Given the description of an element on the screen output the (x, y) to click on. 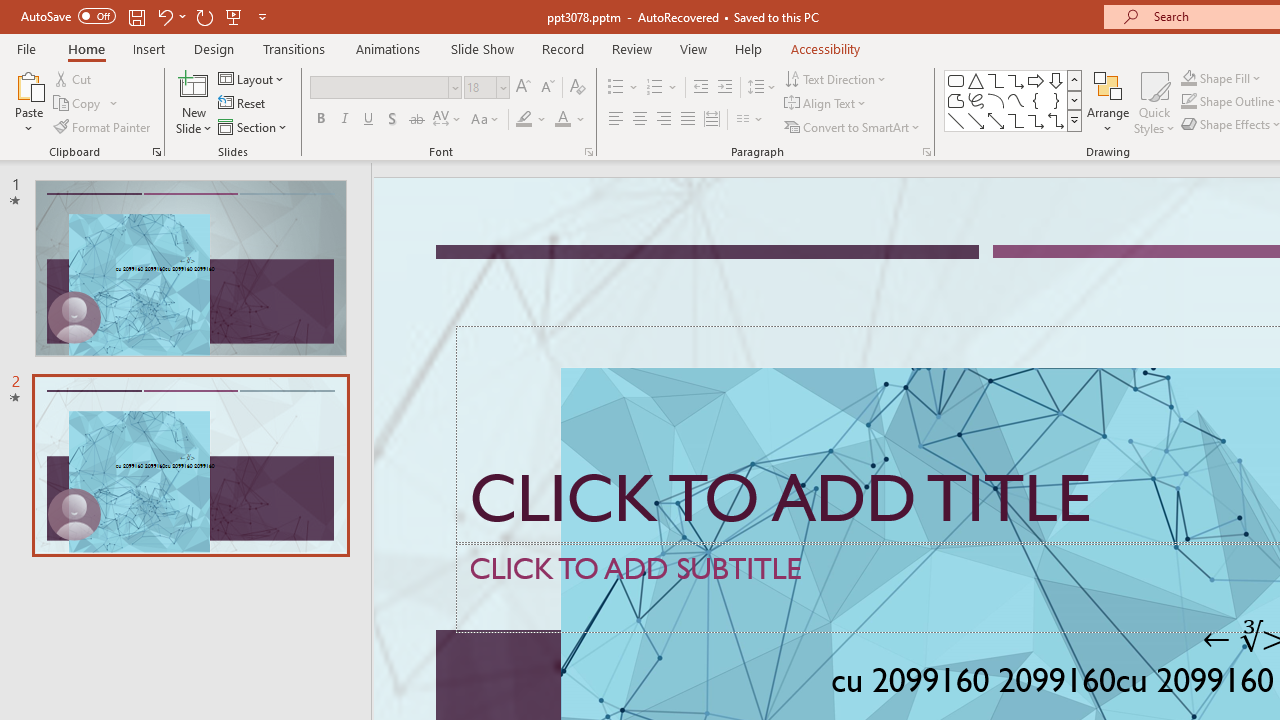
Shape Outline Green, Accent 1 (1188, 101)
